Given the description of an element on the screen output the (x, y) to click on. 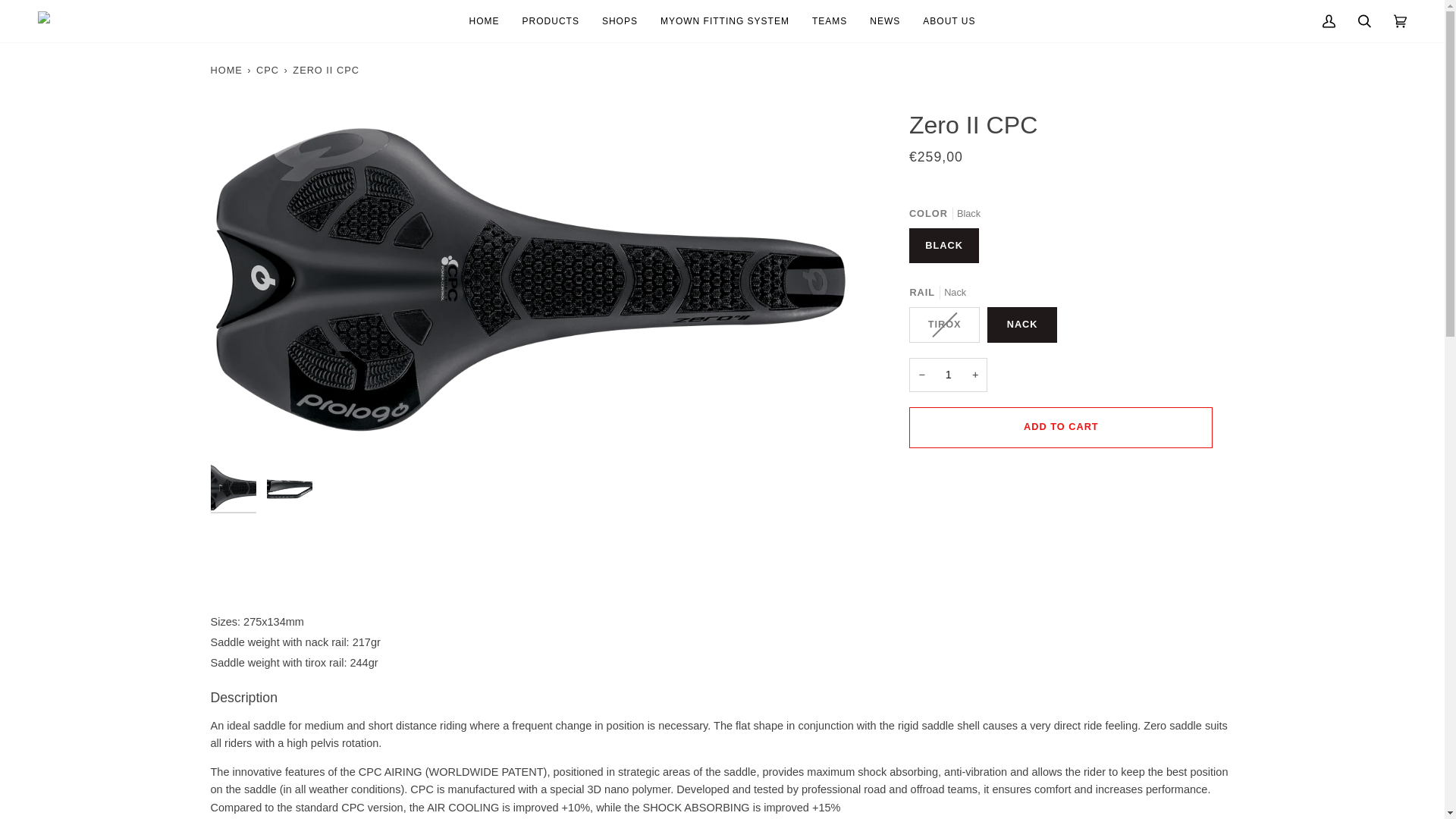
NEWS (885, 21)
SHOPS (620, 21)
MYOWN FITTING SYSTEM (724, 21)
1 (947, 374)
PRODUCTS (551, 21)
TEAMS (829, 21)
ABOUT US (949, 21)
Back to the frontpage (227, 69)
HOME (484, 21)
